Given the description of an element on the screen output the (x, y) to click on. 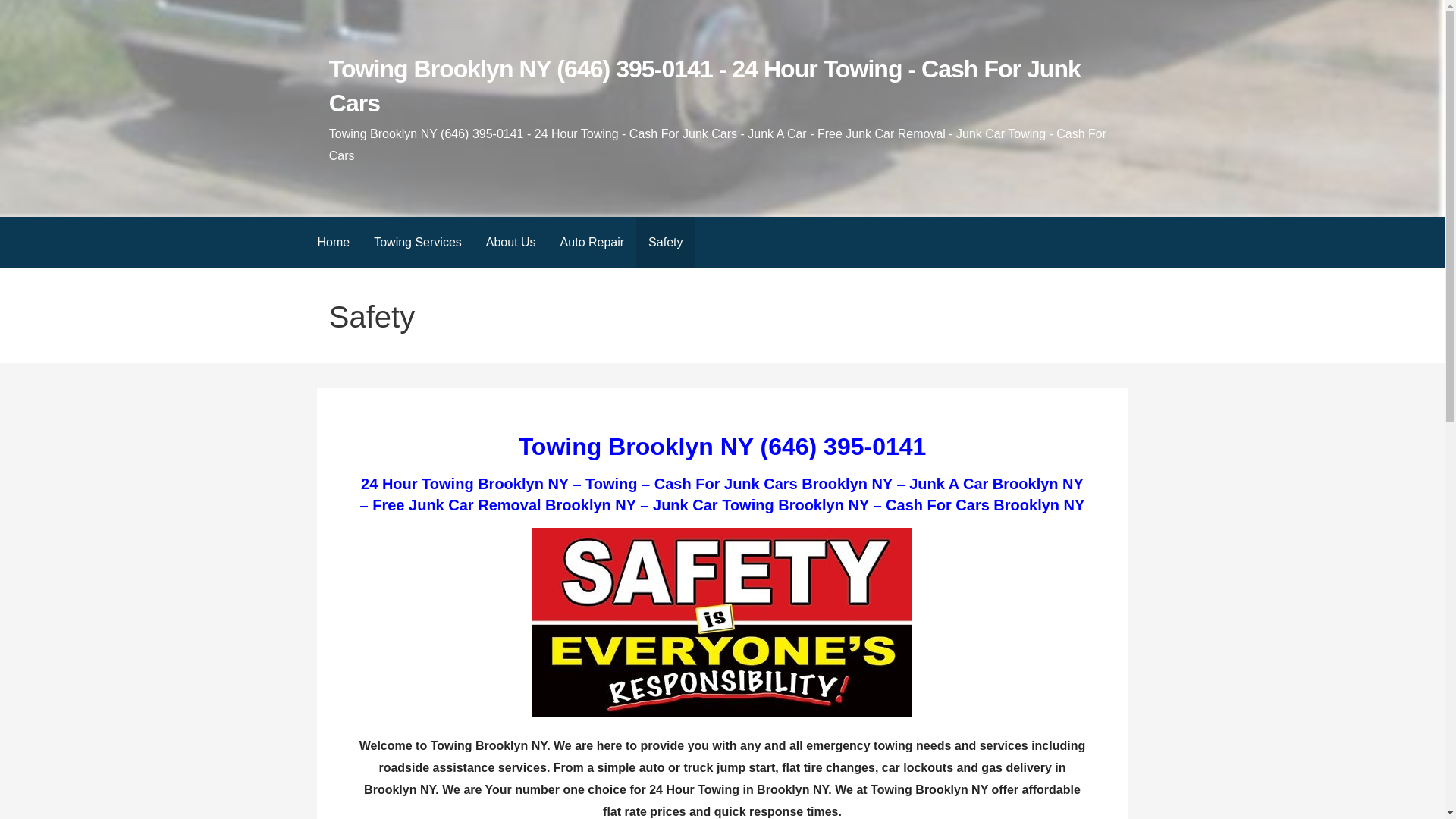
About Us (511, 242)
Auto Repair (592, 242)
Towing Brooklyn NY Safety.jpg (721, 622)
Safety (665, 242)
Home (332, 242)
Towing Services (417, 242)
